Given the description of an element on the screen output the (x, y) to click on. 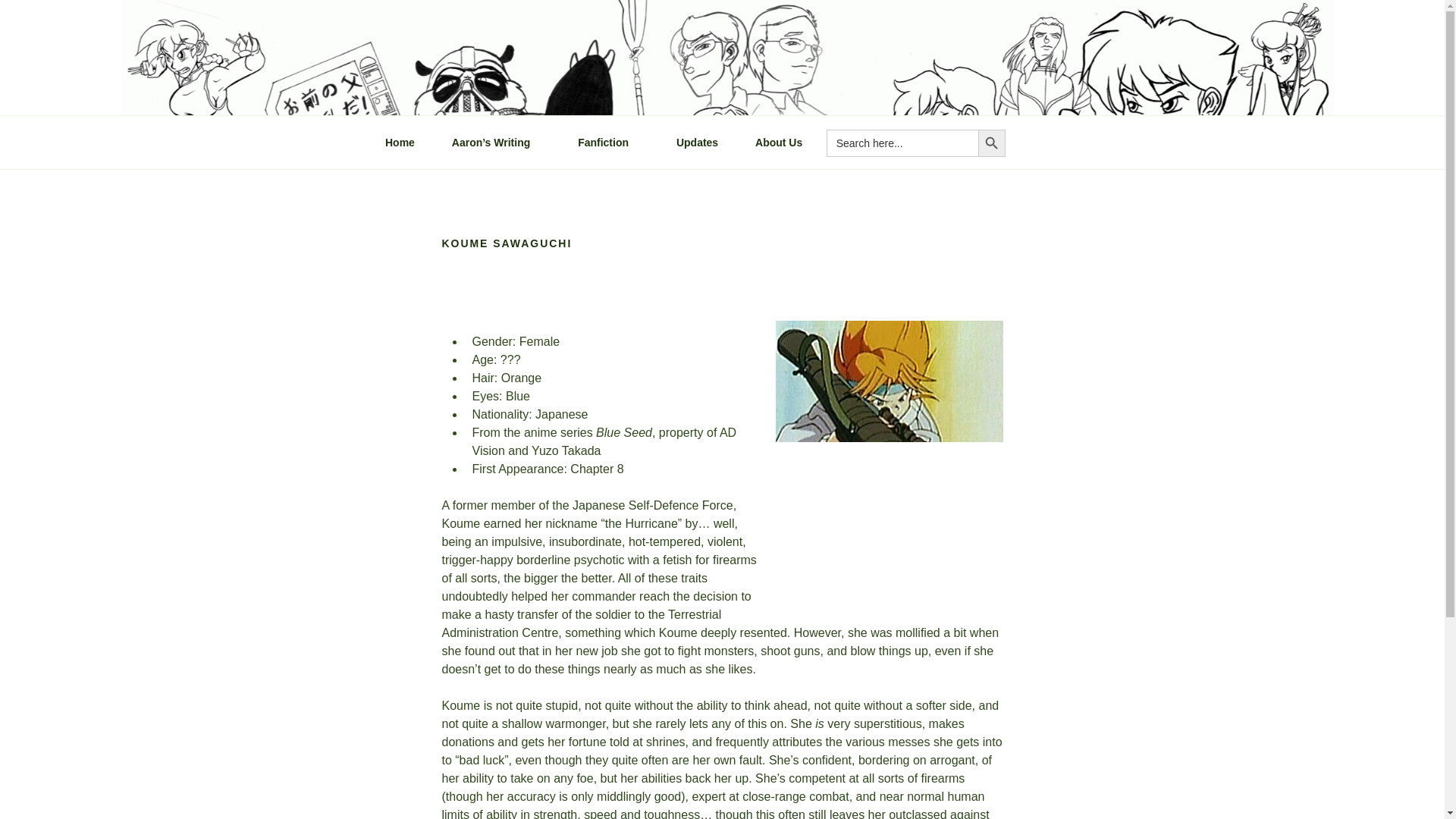
About Us (778, 142)
Search Button (992, 143)
Fanfiction (608, 142)
Updates (696, 142)
Home (399, 142)
